Given the description of an element on the screen output the (x, y) to click on. 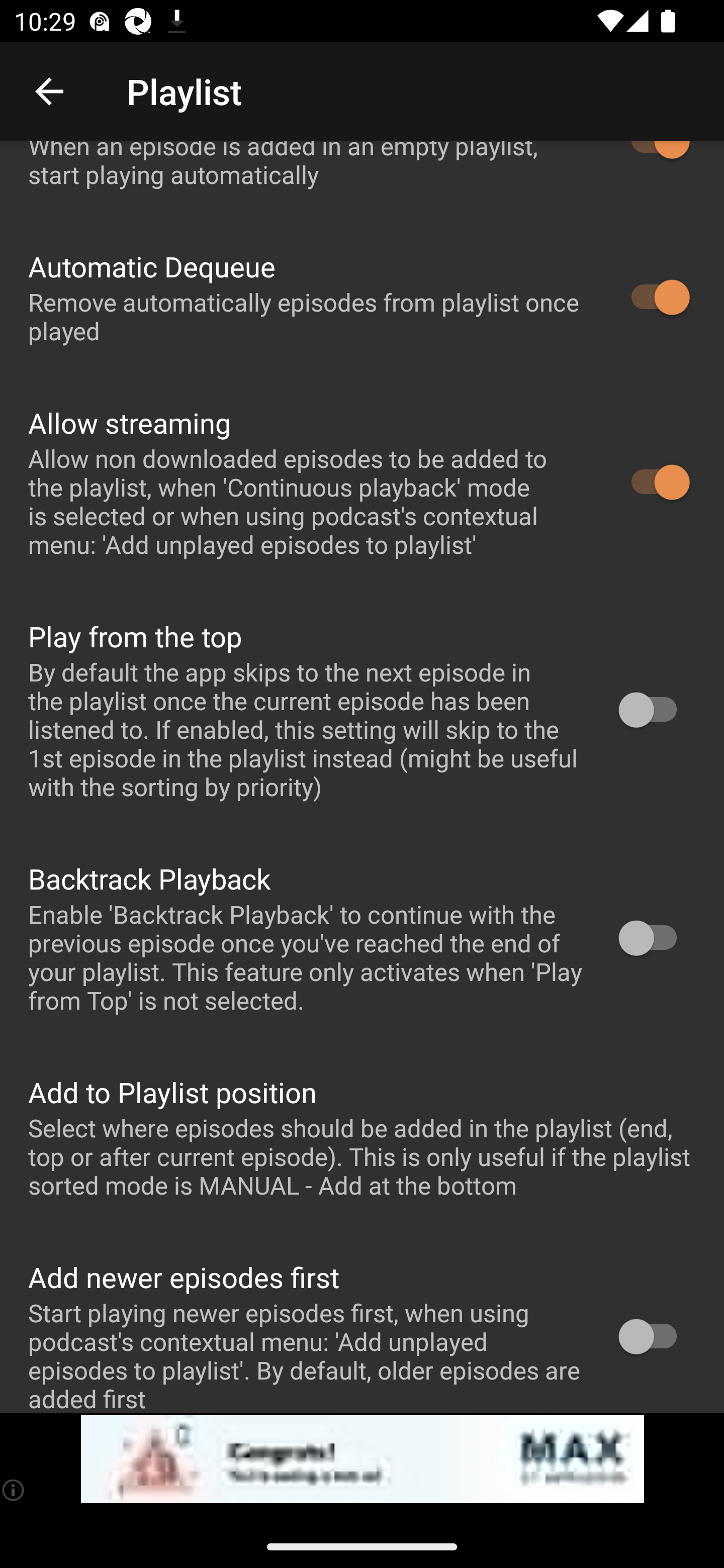
app-monetization (362, 1459)
(i) (14, 1489)
